Given the description of an element on the screen output the (x, y) to click on. 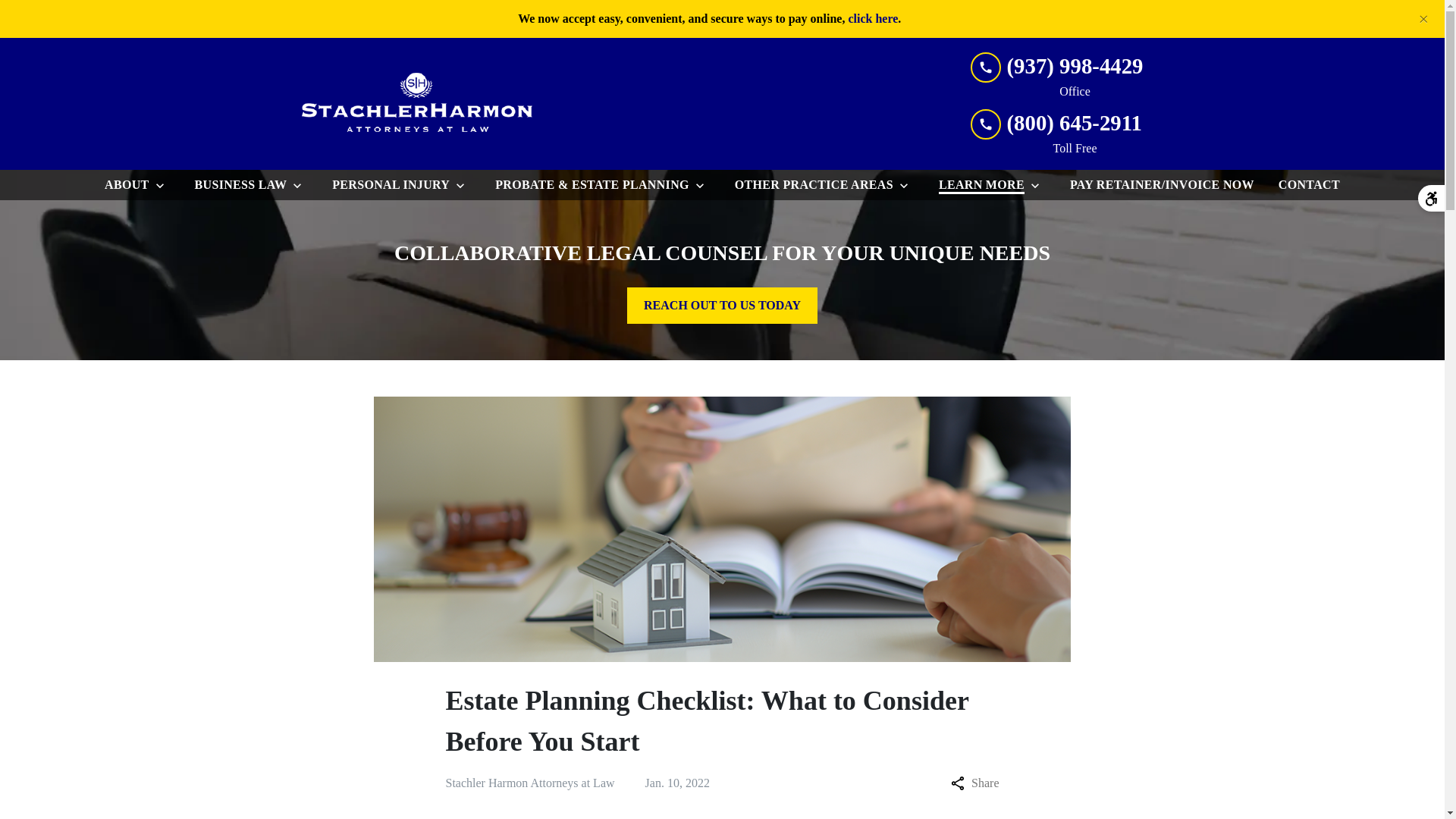
ABOUT (124, 184)
PERSONAL INJURY (387, 184)
click here (872, 18)
BUSINESS LAW (237, 184)
